Given the description of an element on the screen output the (x, y) to click on. 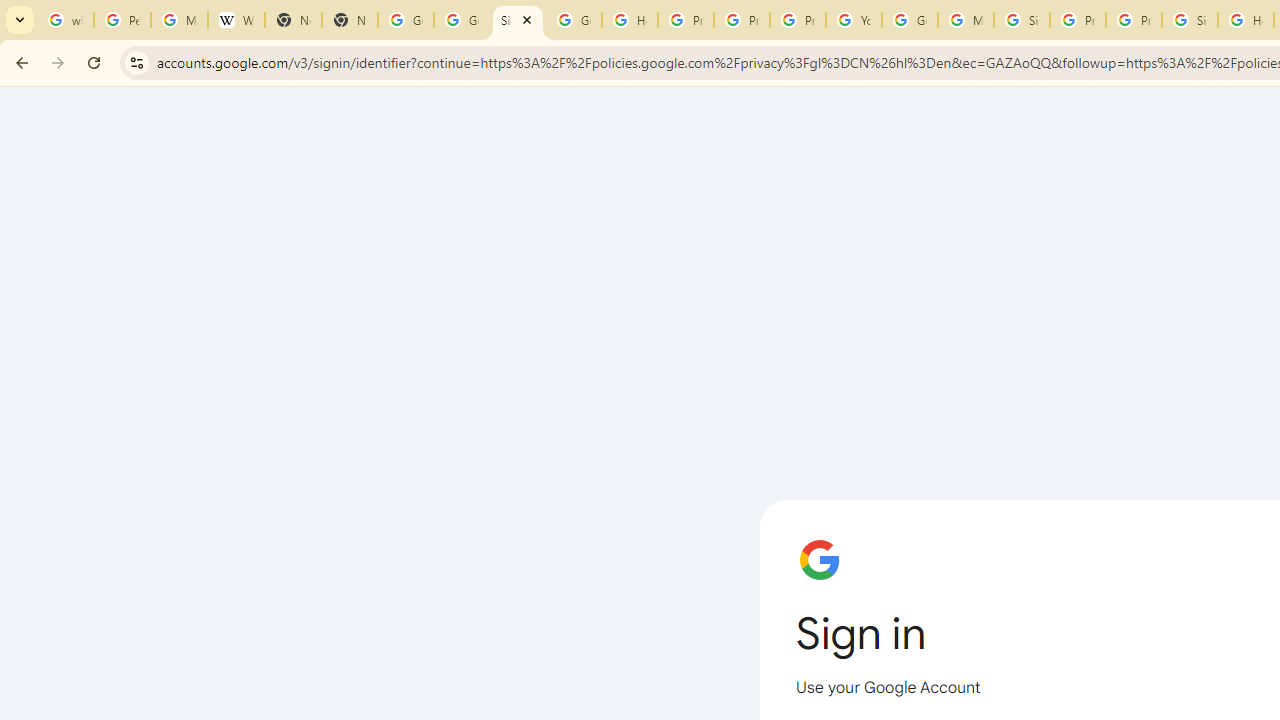
Sign in - Google Accounts (1190, 20)
Google Drive: Sign-in (461, 20)
New Tab (349, 20)
Wikipedia:Edit requests - Wikipedia (235, 20)
Manage your Location History - Google Search Help (179, 20)
